Given the description of an element on the screen output the (x, y) to click on. 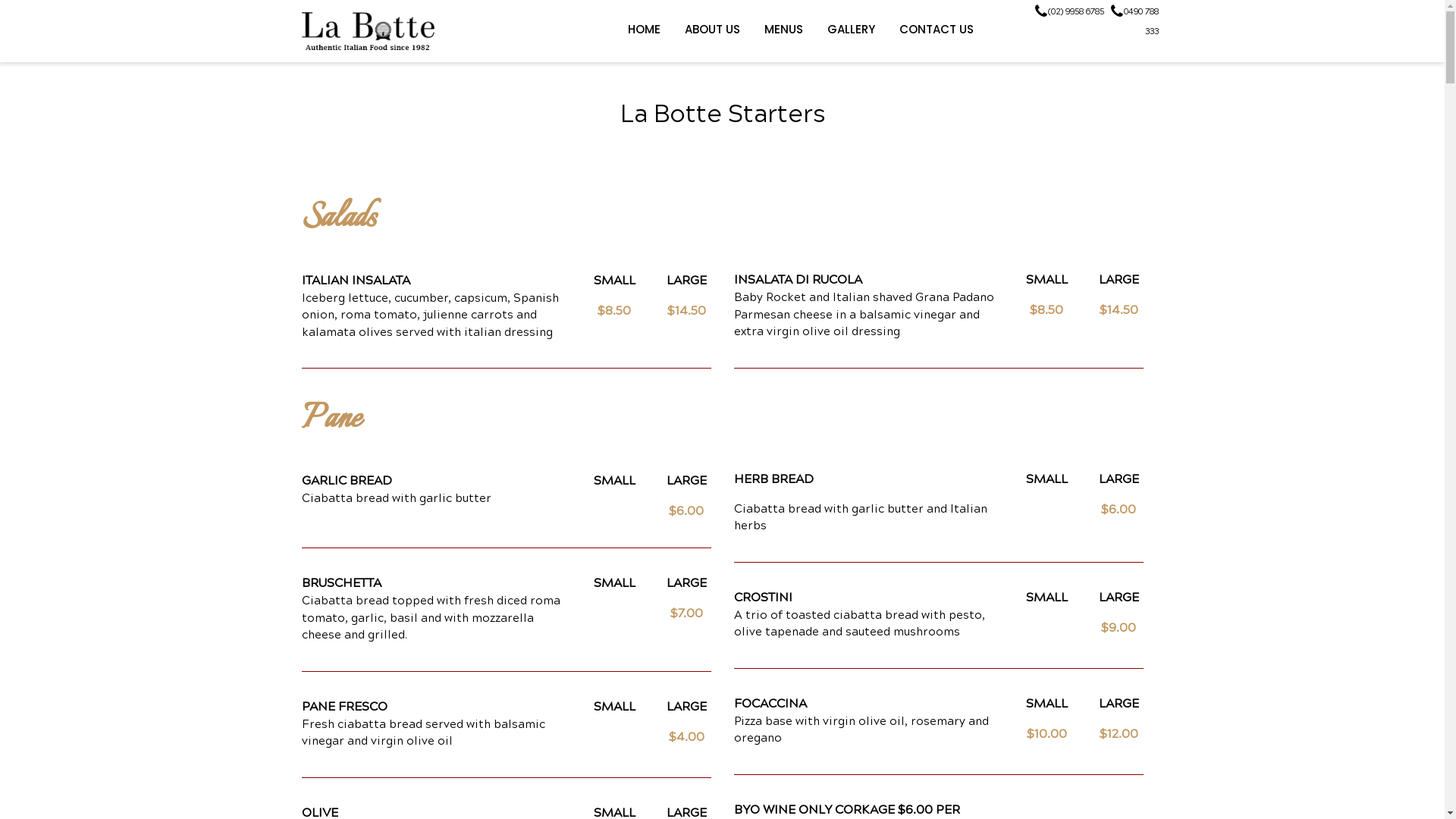
0490 788 333 Element type: text (1132, 21)
MENUS Element type: text (783, 29)
CONTACT US Element type: text (936, 29)
ABOUT US Element type: text (711, 29)
(02) 9958 6785 Element type: text (1067, 11)
GALLERY Element type: text (849, 29)
HOME Element type: text (644, 29)
